Given the description of an element on the screen output the (x, y) to click on. 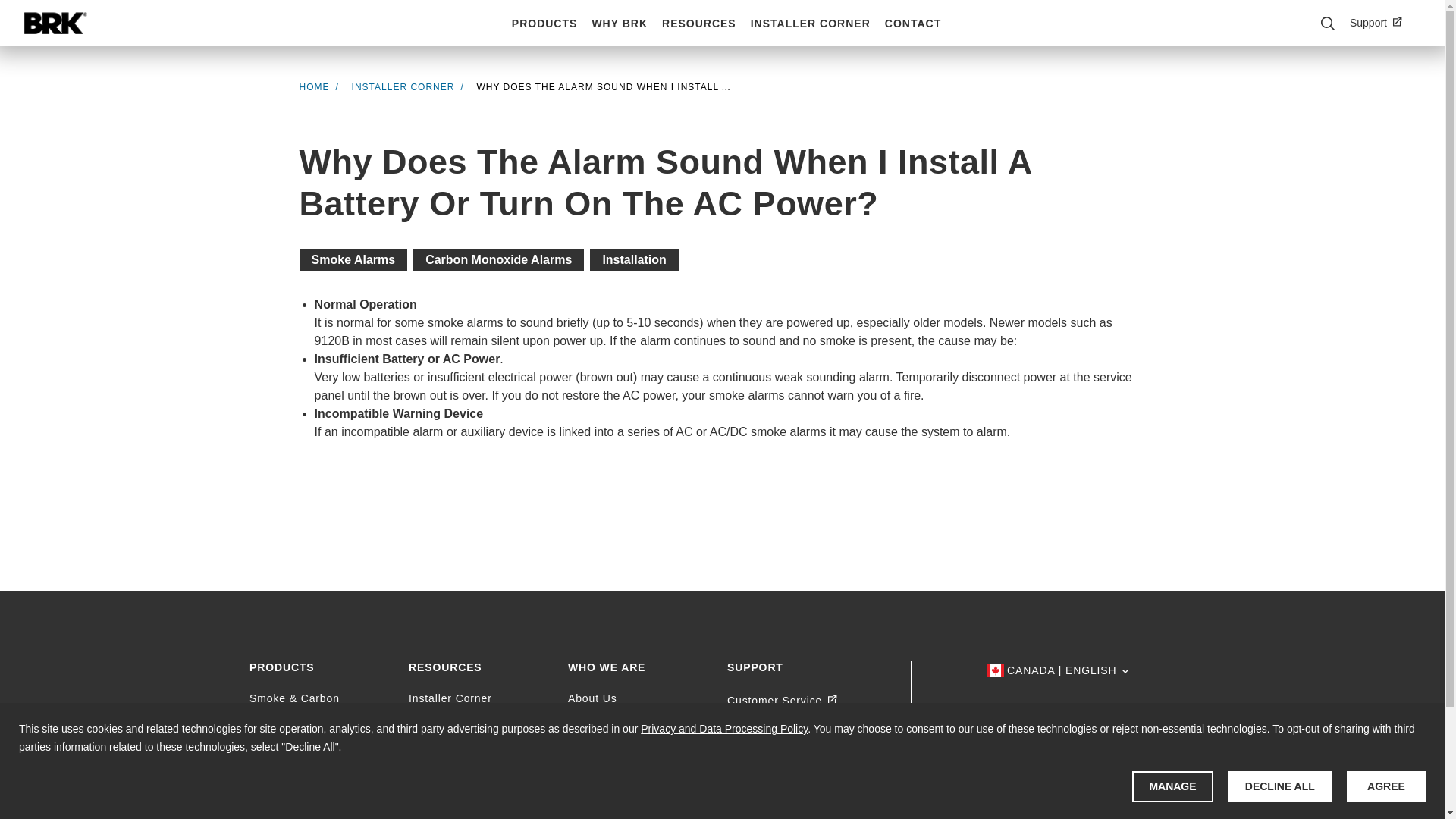
PRODUCTS (543, 23)
Installer Corner (403, 86)
RESOURCES (697, 23)
WHY BRK (618, 23)
Support (1381, 22)
Home (55, 22)
Search Button (1327, 23)
